Given the description of an element on the screen output the (x, y) to click on. 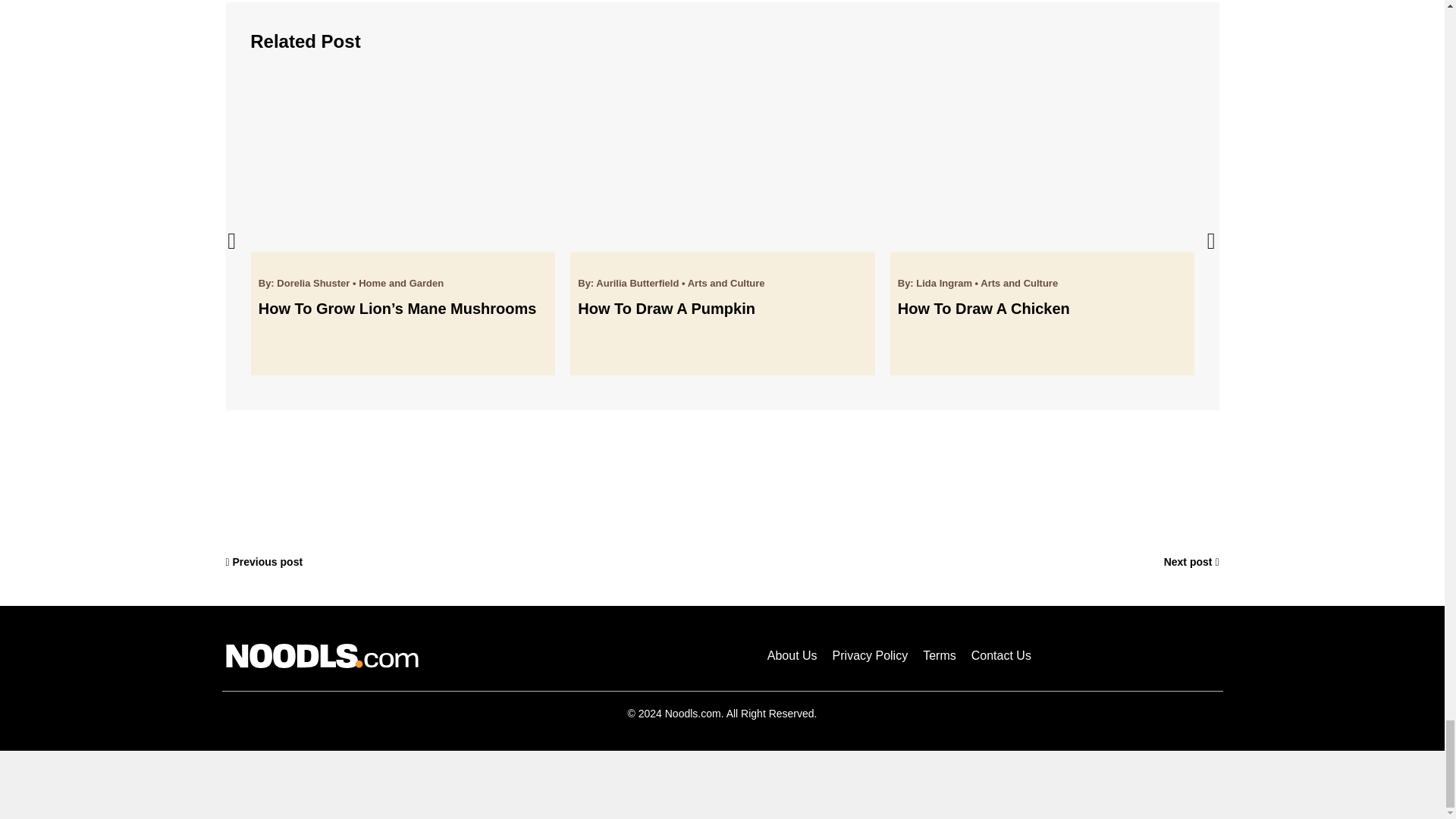
Noodls (322, 655)
